Given the description of an element on the screen output the (x, y) to click on. 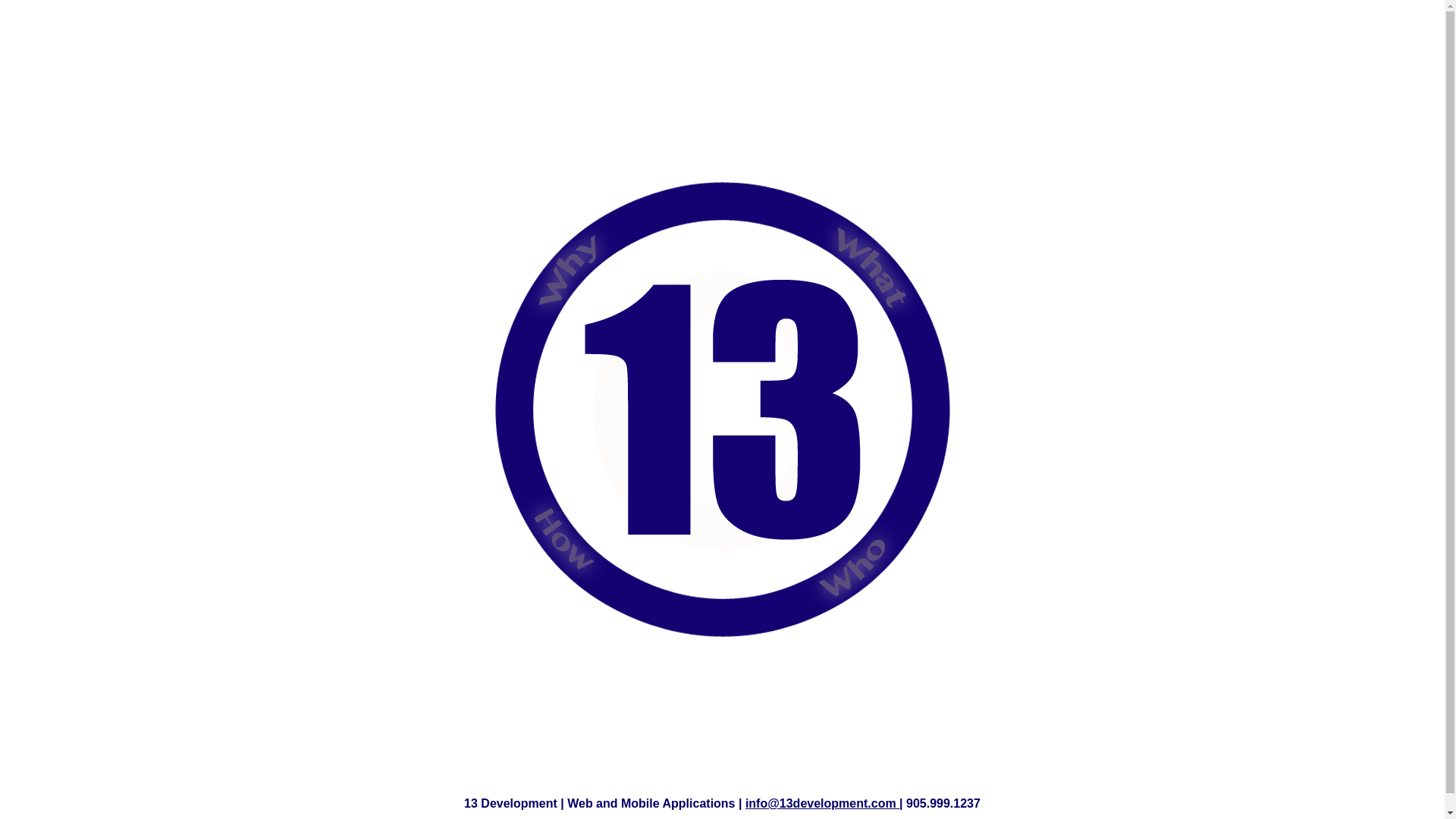
info@13development.com Element type: text (822, 803)
